Given the description of an element on the screen output the (x, y) to click on. 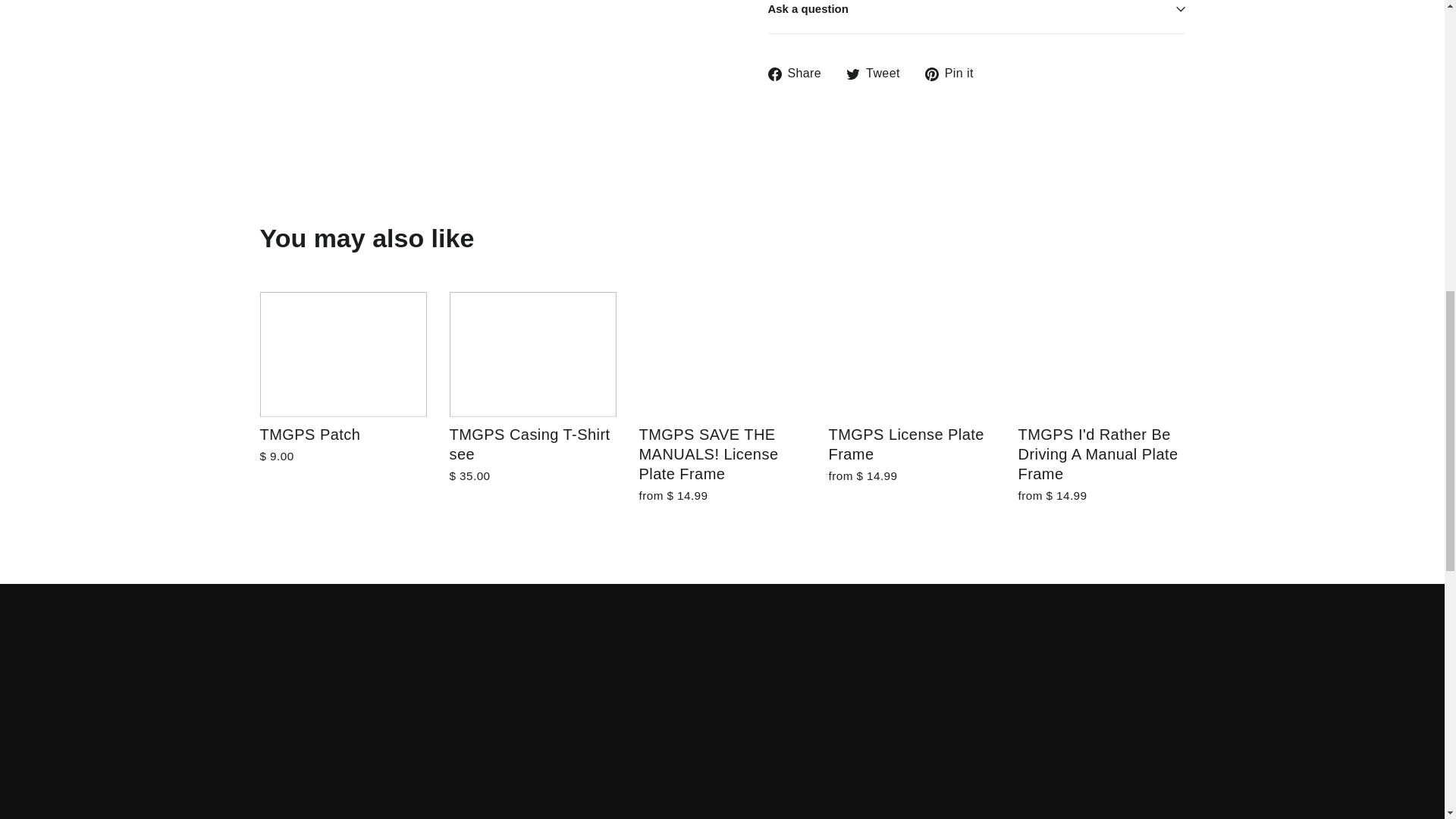
Pin on Pinterest (954, 73)
Share on Facebook (799, 73)
Tweet on Twitter (878, 73)
